Given the description of an element on the screen output the (x, y) to click on. 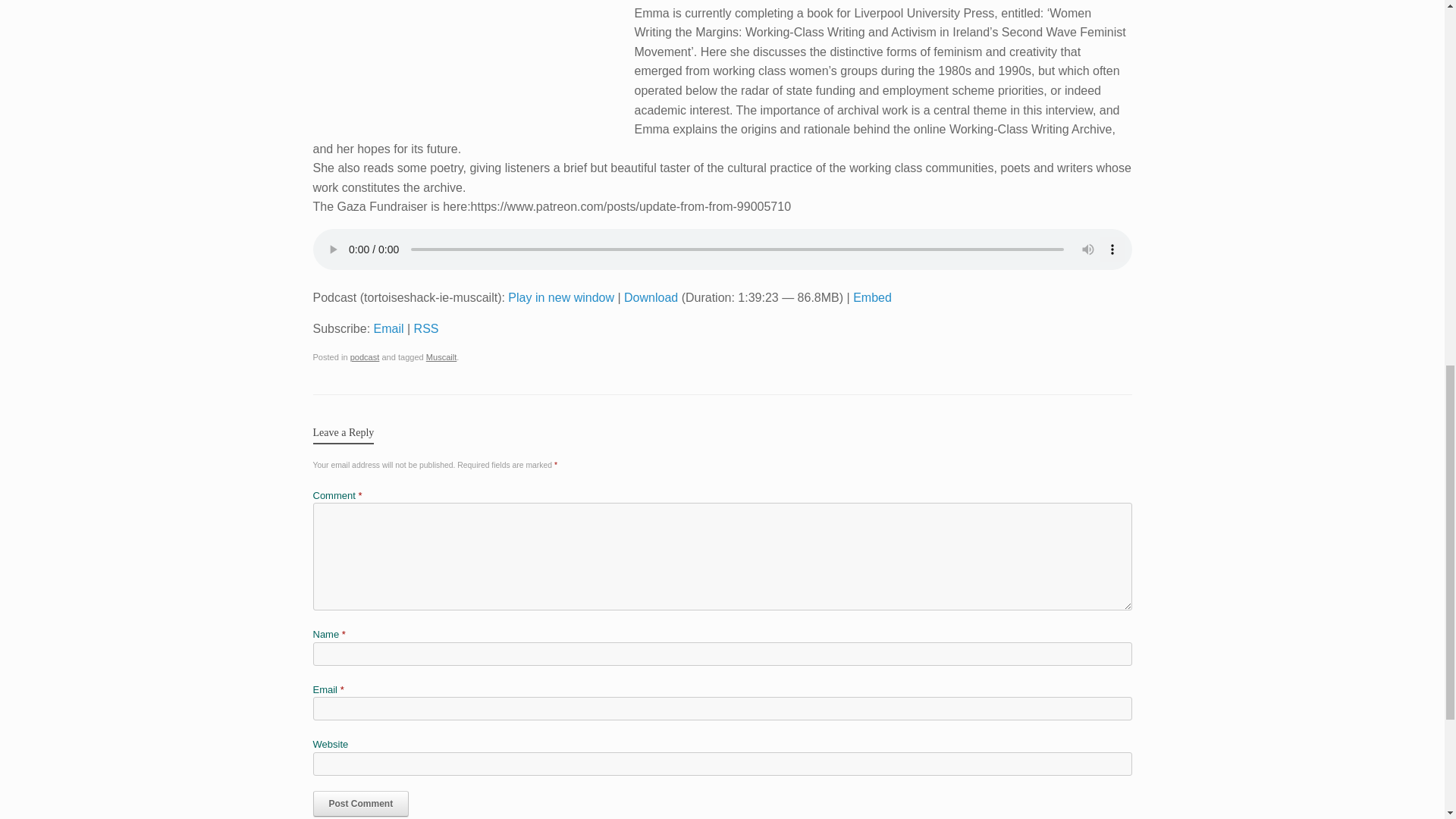
RSS (426, 328)
Post Comment (361, 803)
Play in new window (561, 297)
Email (389, 328)
podcast (365, 356)
Download (651, 297)
Muscailt (441, 356)
Post Comment (361, 803)
Subscribe via RSS (426, 328)
Subscribe by Email (389, 328)
Play in new window (561, 297)
Embed (872, 297)
Download (651, 297)
Embed (872, 297)
